Given the description of an element on the screen output the (x, y) to click on. 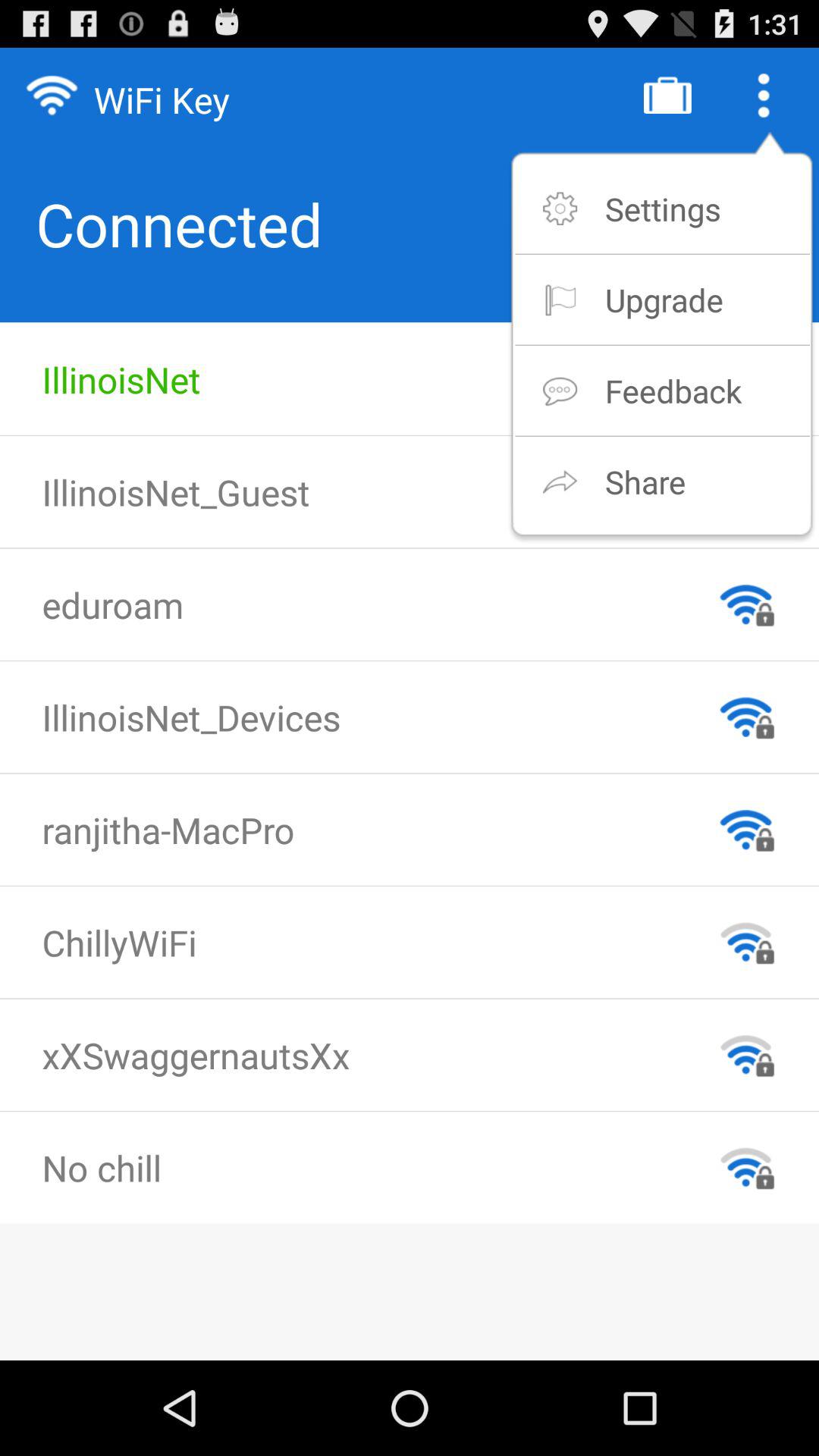
press item below the settings app (664, 299)
